Given the description of an element on the screen output the (x, y) to click on. 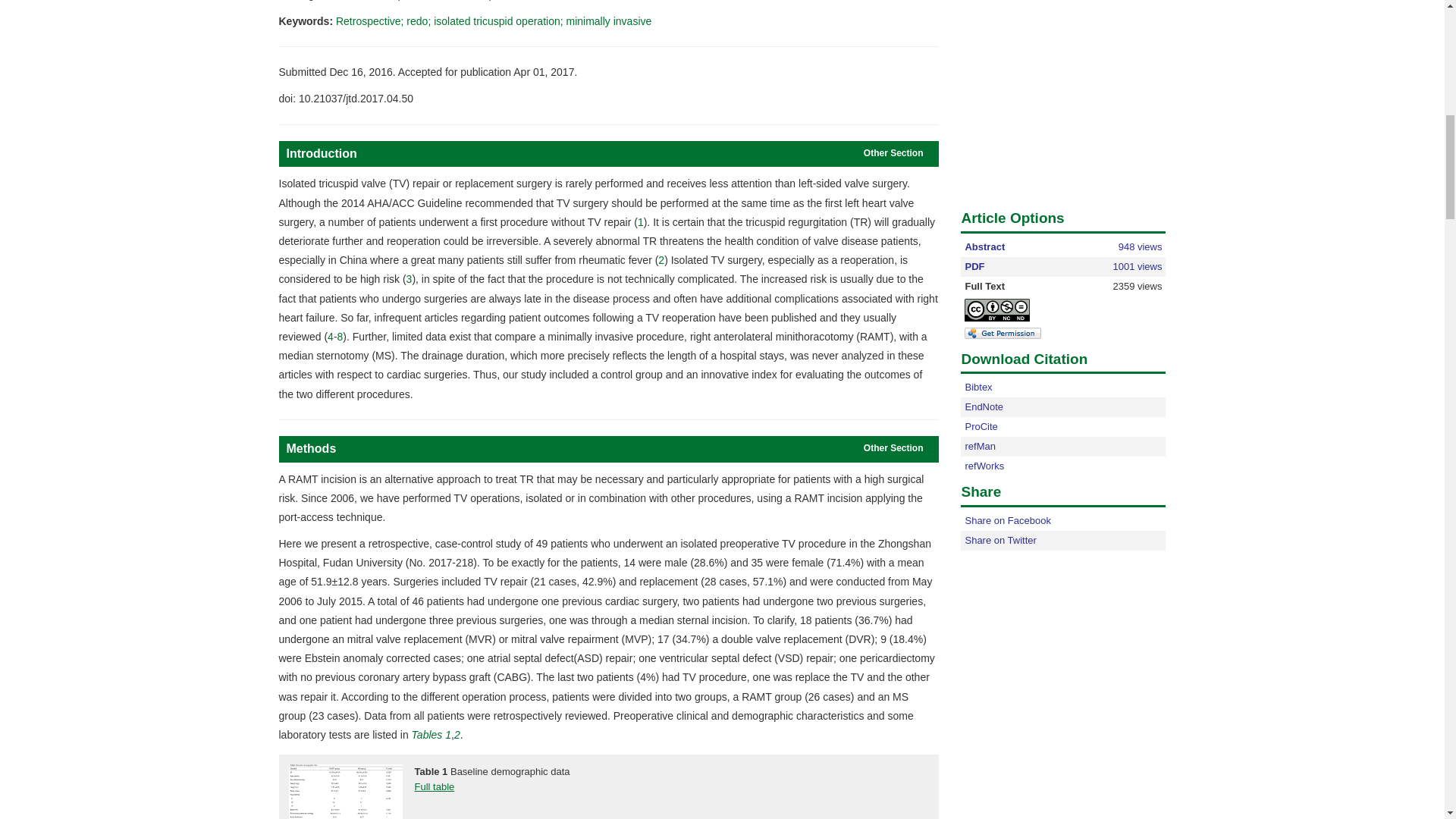
Click on image to zoom (344, 791)
